Given the description of an element on the screen output the (x, y) to click on. 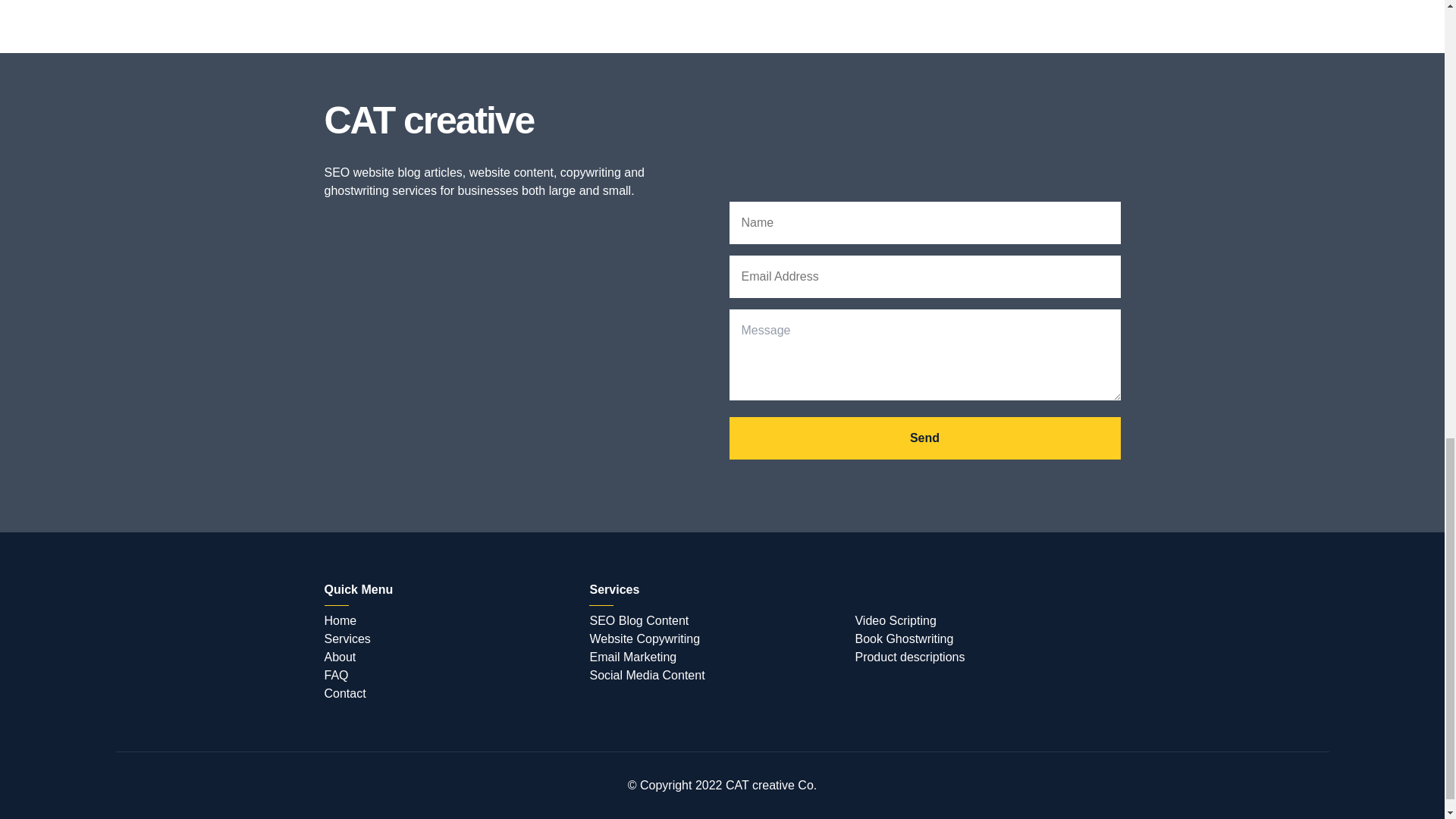
Contact (345, 693)
SEO Blog Content (638, 620)
Video Scripting (895, 620)
Services (347, 638)
Website Copywriting (644, 638)
Send (925, 437)
Product descriptions (908, 656)
Social Media Content (646, 675)
FAQ (336, 675)
Home (340, 620)
